Given the description of an element on the screen output the (x, y) to click on. 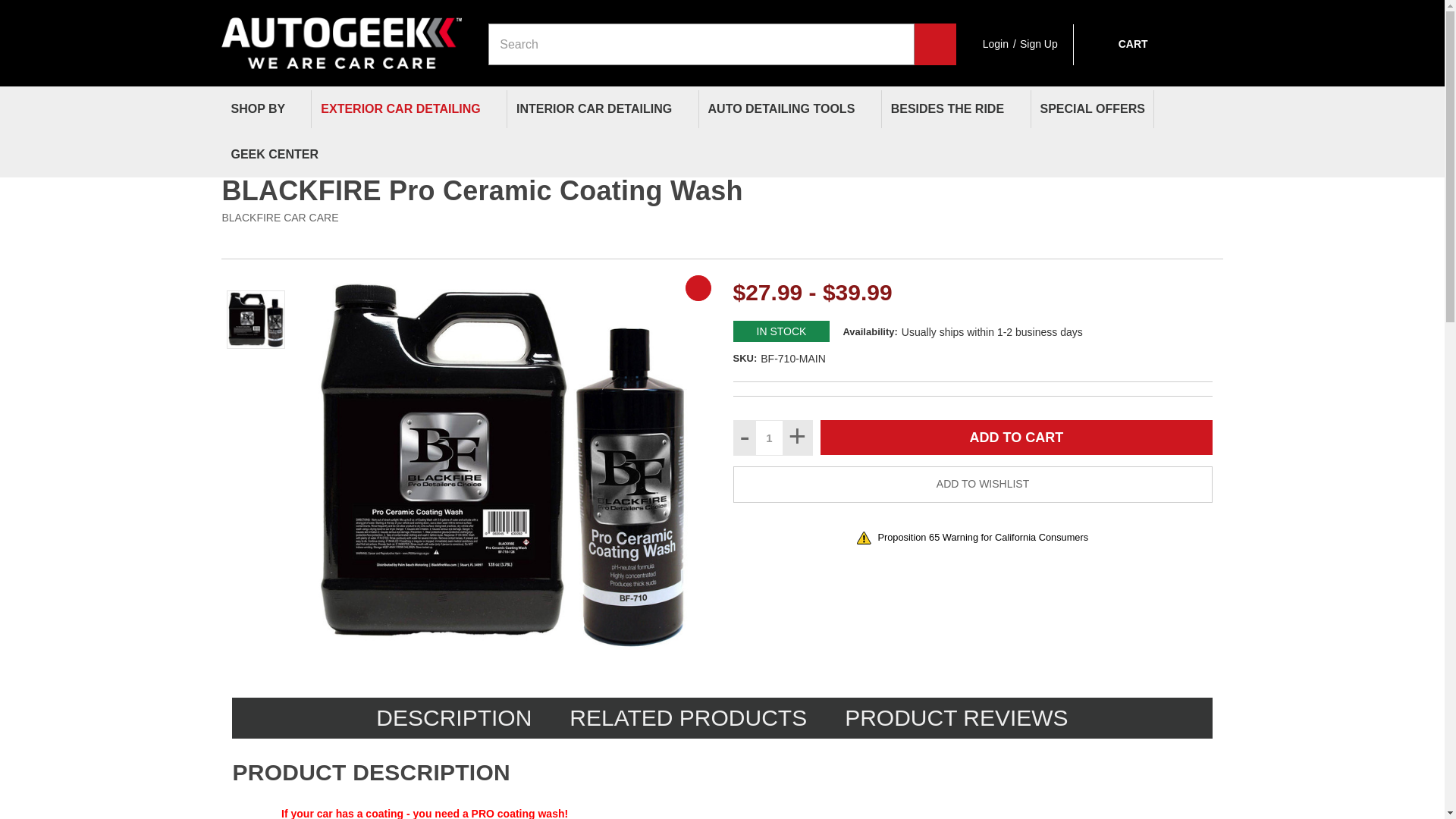
CART (1117, 44)
1 (769, 437)
Add to Cart (1016, 437)
Facebook (1062, 239)
BLACKFIRE Car Care BLACKFIRE Pro Ceramic Coating Wash  (255, 319)
Pinterest (1212, 239)
Login (995, 44)
Autogeek.net (341, 35)
Sign Up (1039, 44)
